Given the description of an element on the screen output the (x, y) to click on. 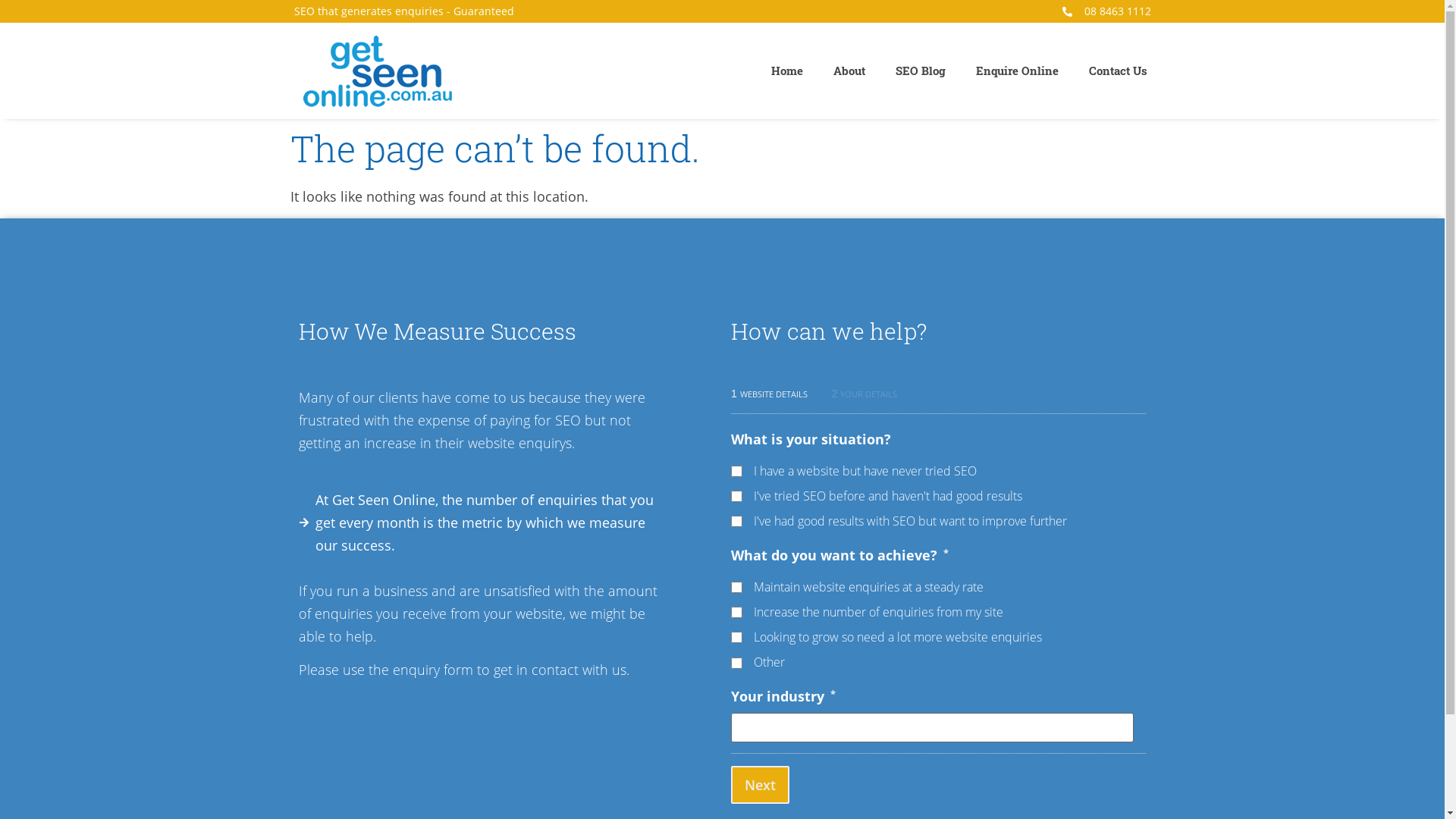
08 8463 1112 Element type: text (1106, 10)
Home Element type: text (786, 70)
About Element type: text (848, 70)
Contact Us Element type: text (1117, 70)
SEO Blog Element type: text (919, 70)
Next Element type: text (760, 784)
Enquire Online Element type: text (1016, 70)
